Given the description of an element on the screen output the (x, y) to click on. 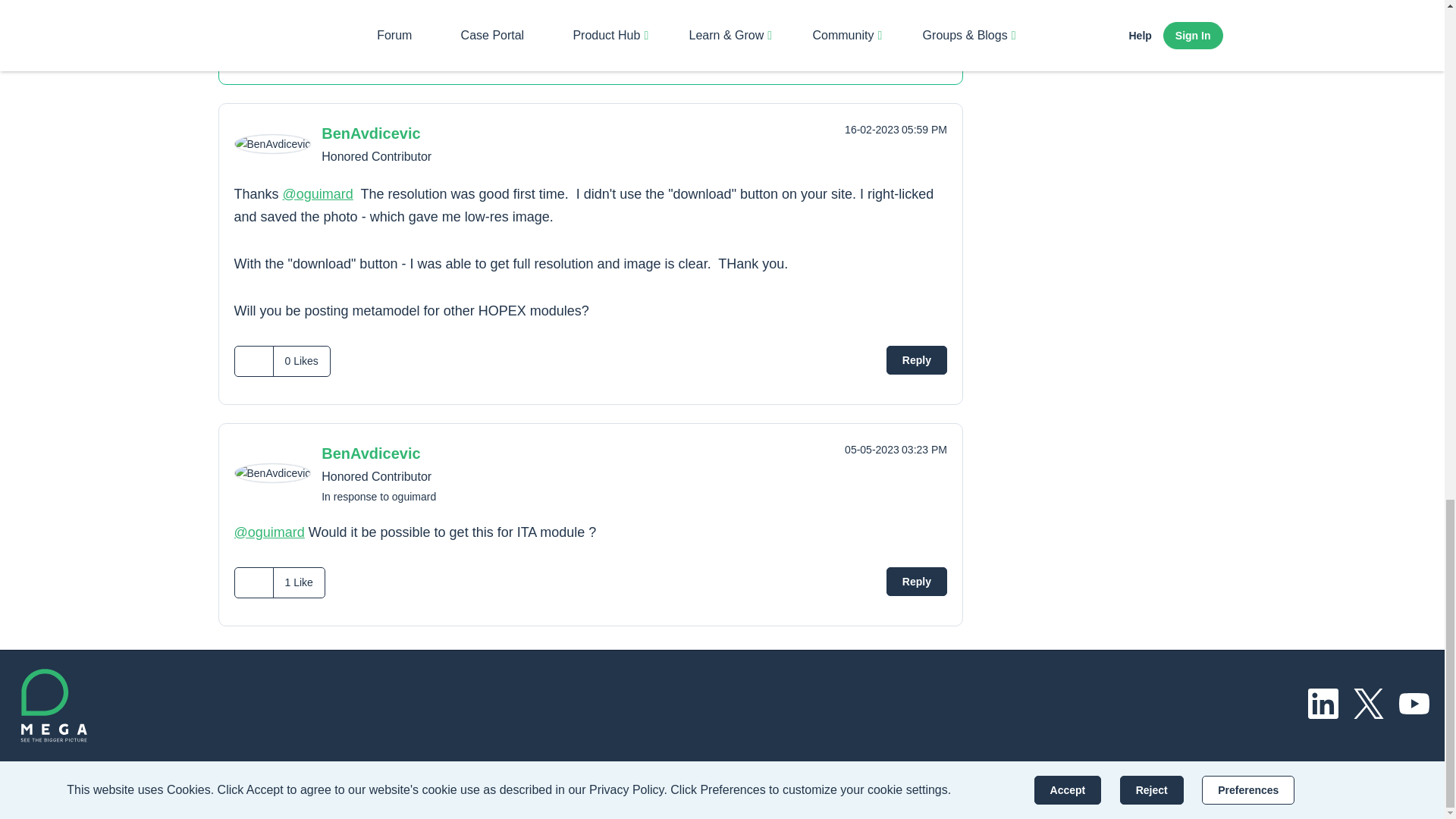
MEGA International (52, 705)
LinkedIn (1322, 703)
YouTube (1414, 703)
